Given the description of an element on the screen output the (x, y) to click on. 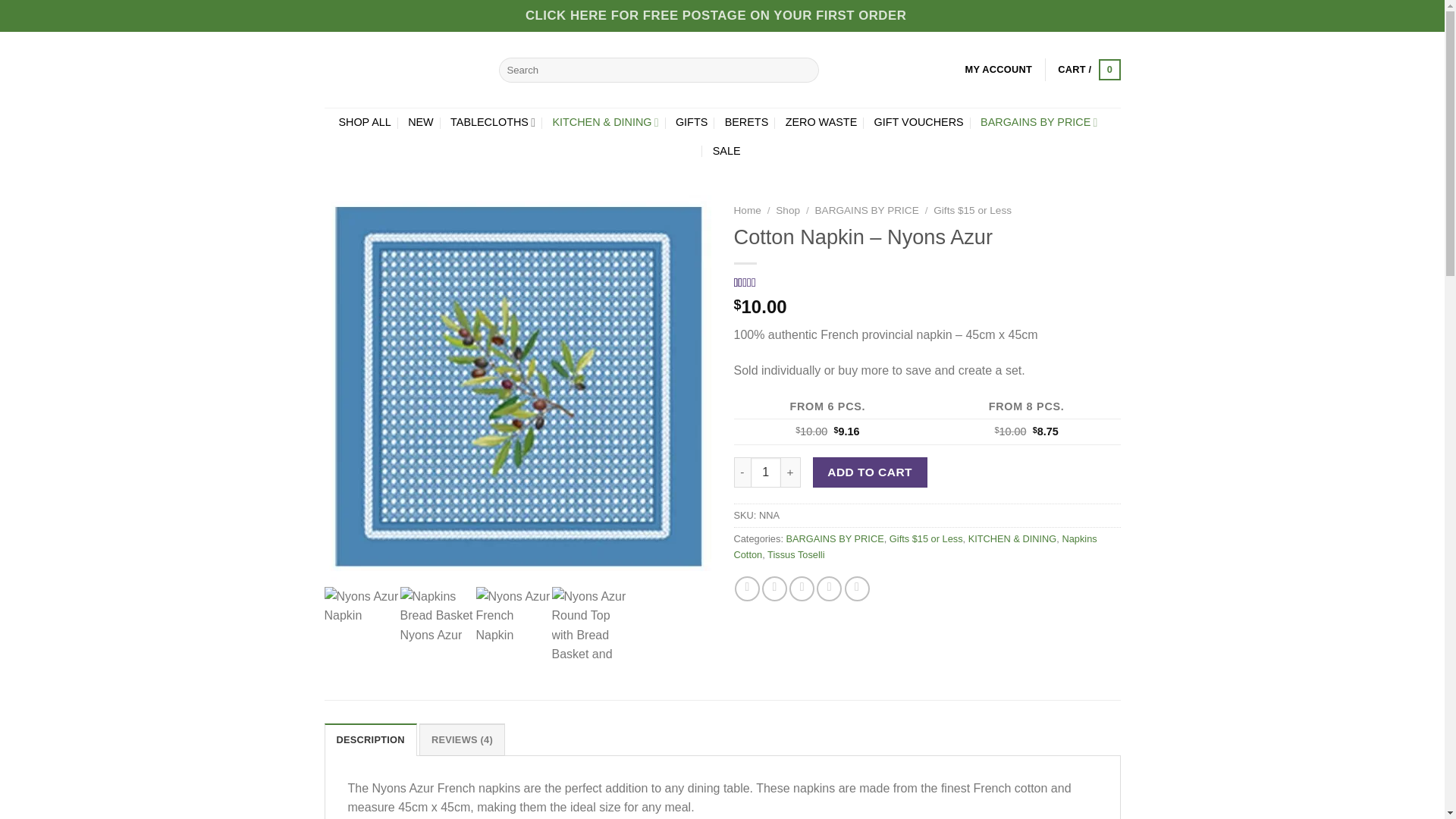
SHOP ALL (363, 121)
CLICK HERE FOR FREE POSTAGE ON YOUR FIRST ORDER (716, 15)
BARGAINS BY PRICE (1038, 122)
Search (804, 69)
1 (765, 472)
My account (998, 69)
BERETS (746, 121)
ZERO WASTE (821, 121)
NEW (420, 121)
